Given the description of an element on the screen output the (x, y) to click on. 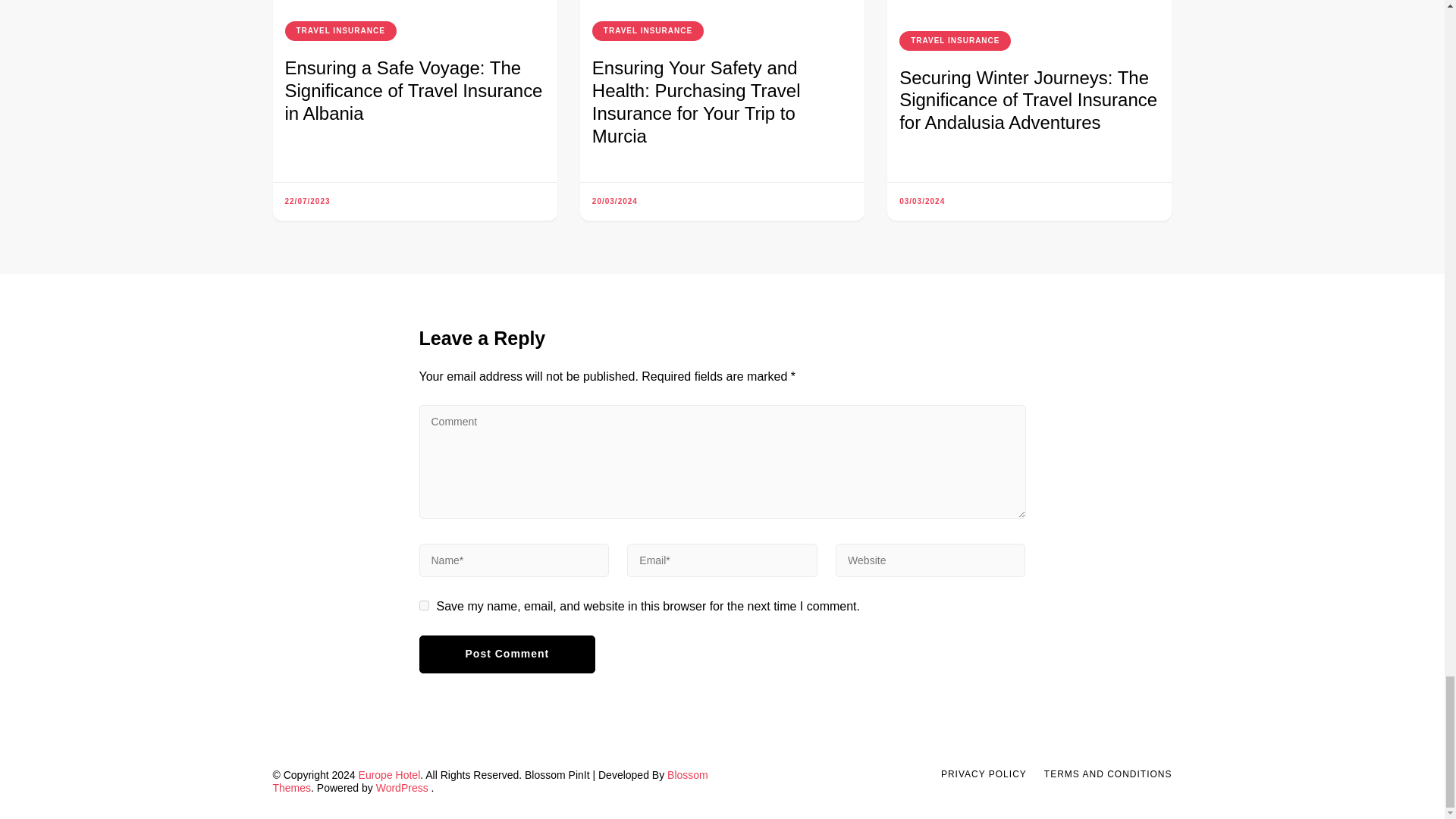
Post Comment (507, 654)
yes (423, 605)
